Given the description of an element on the screen output the (x, y) to click on. 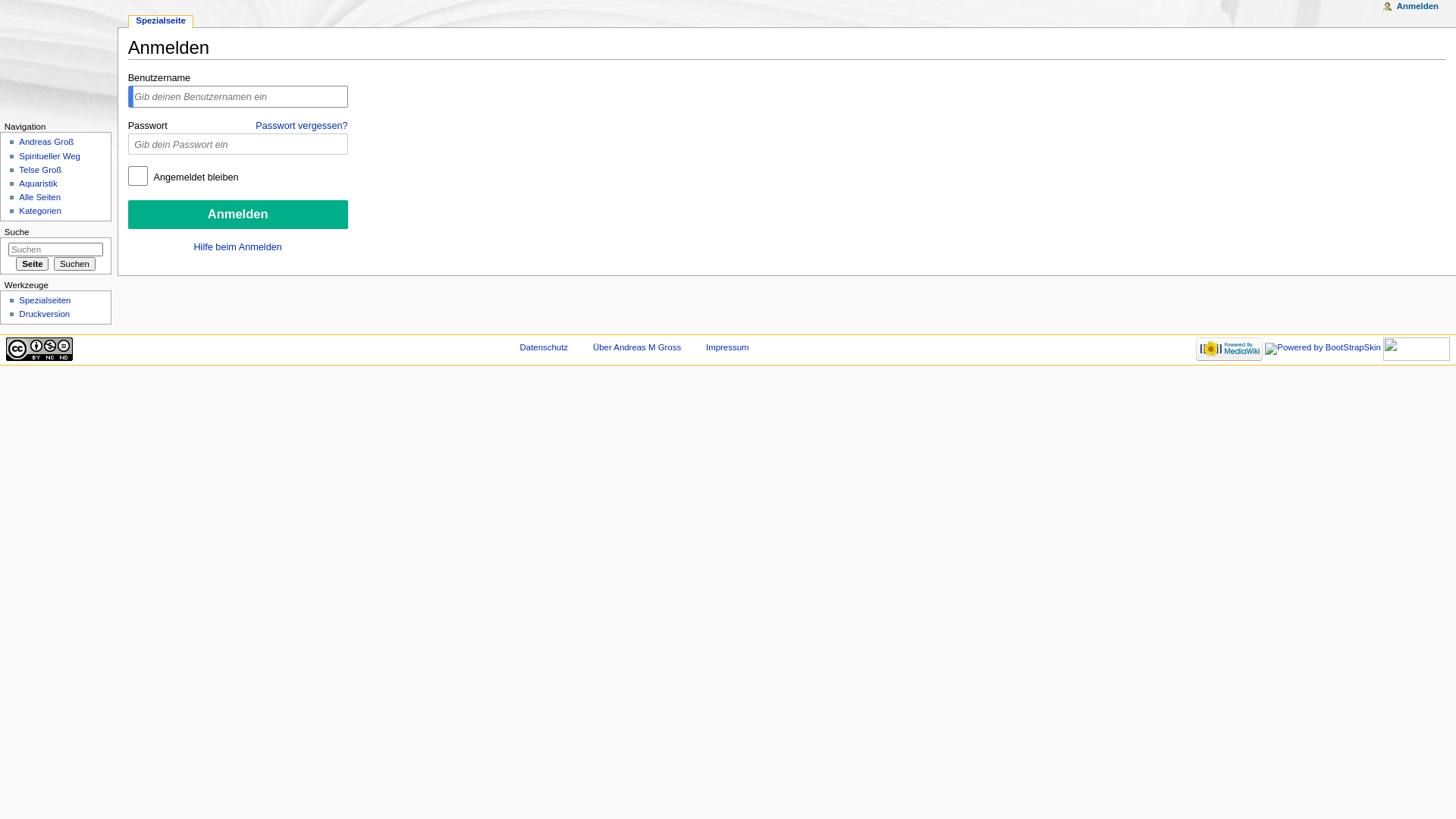
Spiritueller Weg Element type: text (49, 155)
Hauptseite Element type: hover (58, 58)
Hilfe beim Anmelden Element type: text (237, 246)
Seite Element type: text (31, 263)
Anmelden Element type: text (1417, 6)
Suchen Element type: text (74, 263)
Kategorien Element type: text (39, 210)
Druckversion Element type: text (43, 313)
Passwort vergessen? Element type: text (301, 125)
Anmelden Element type: text (238, 214)
Aquaristik Element type: text (37, 183)
Spezialseiten Element type: text (44, 299)
Datenschutz Element type: text (544, 346)
Spezialseite Element type: text (160, 21)
Alle Seiten Element type: text (39, 196)
Andreas M Gross durchsuchen [alt-shift-f] Element type: hover (55, 249)
Impressum Element type: text (727, 346)
Suche nach Seiten, die diesen Text enthalten Element type: hover (74, 263)
